Given the description of an element on the screen output the (x, y) to click on. 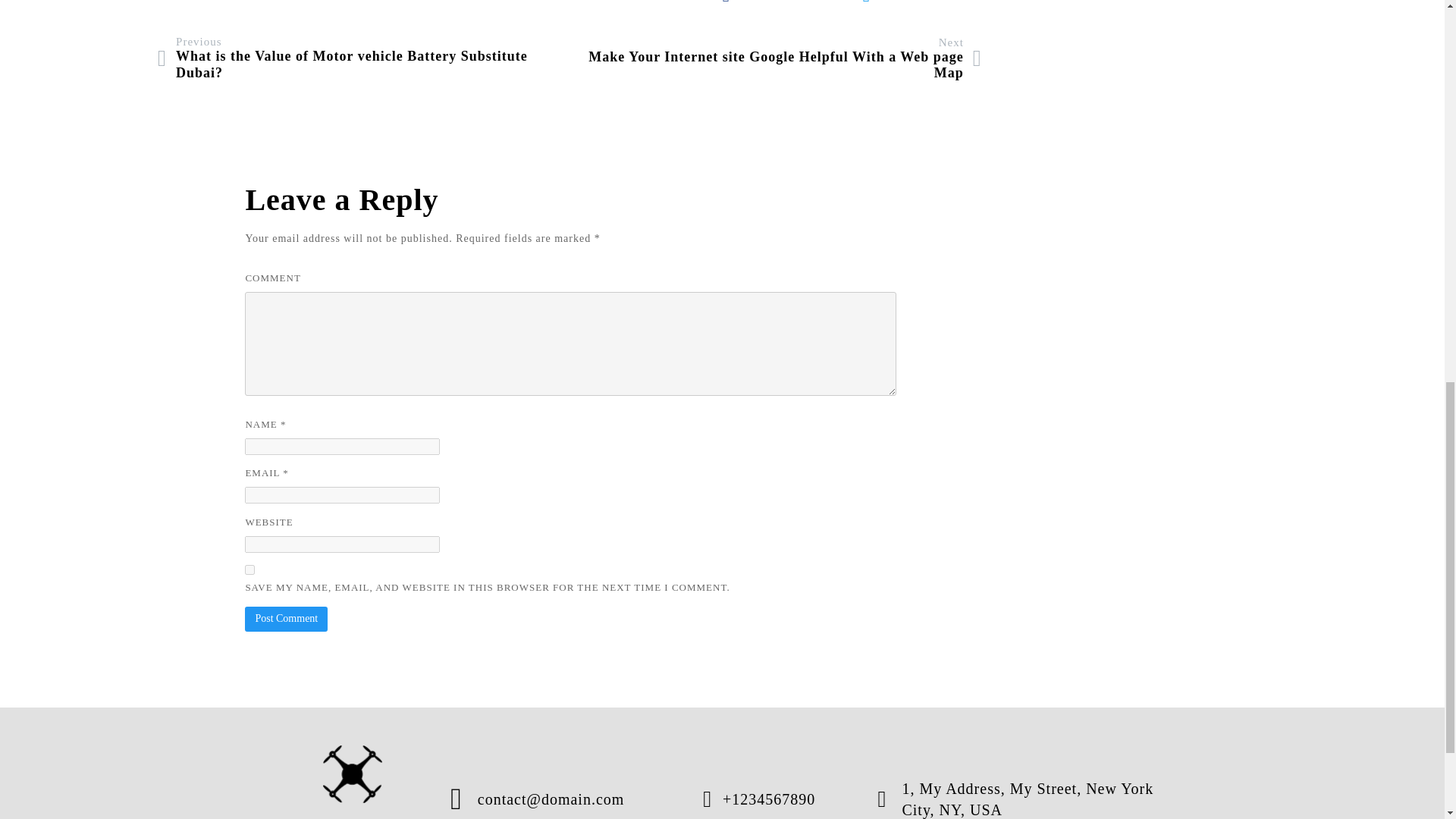
Post Comment (285, 618)
Share on Facebook (786, 4)
logo (352, 774)
fab fa-twitter-square (920, 4)
Share on Twitter (920, 4)
Post Comment (285, 618)
fab fa-facebook-square (786, 4)
yes (249, 569)
